Given the description of an element on the screen output the (x, y) to click on. 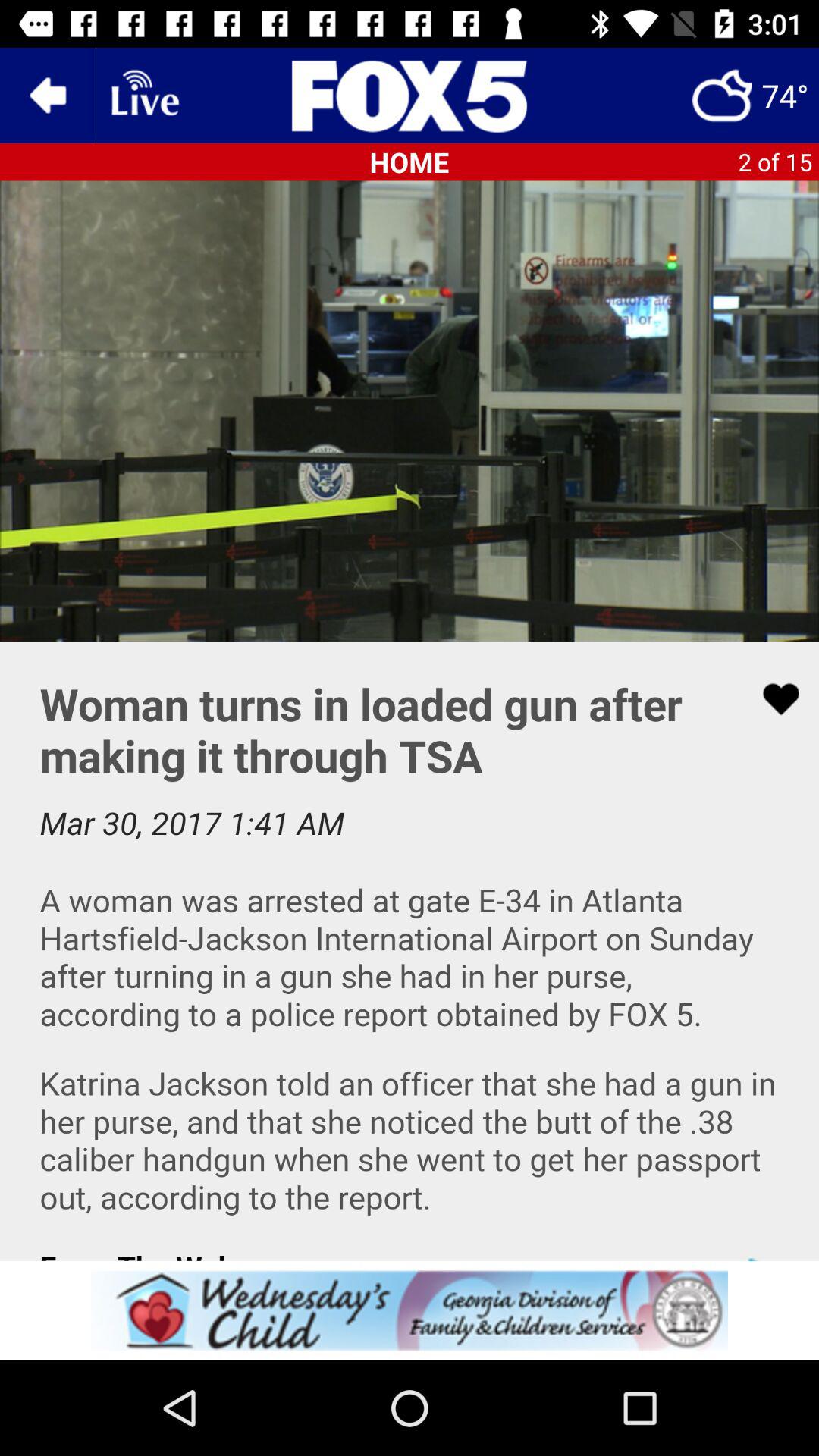
press heart icon (409, 950)
